Given the description of an element on the screen output the (x, y) to click on. 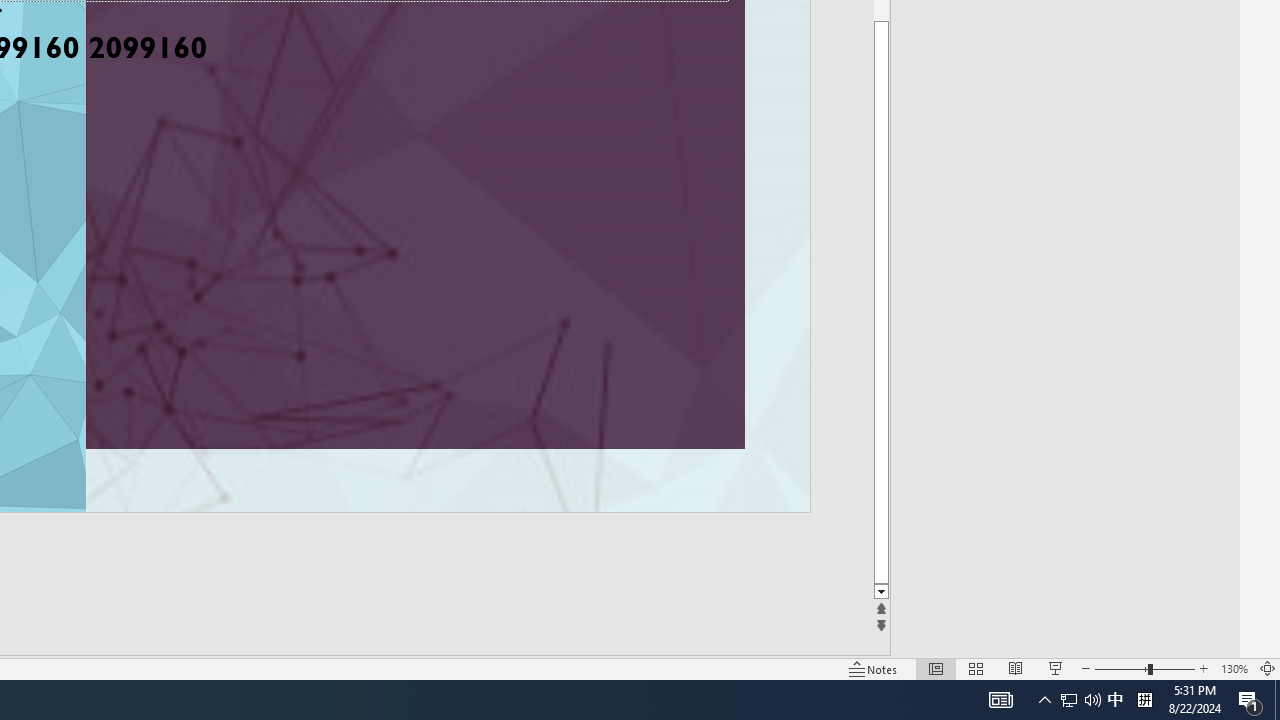
Line down (911, 592)
Zoom 130% (1234, 668)
